Given the description of an element on the screen output the (x, y) to click on. 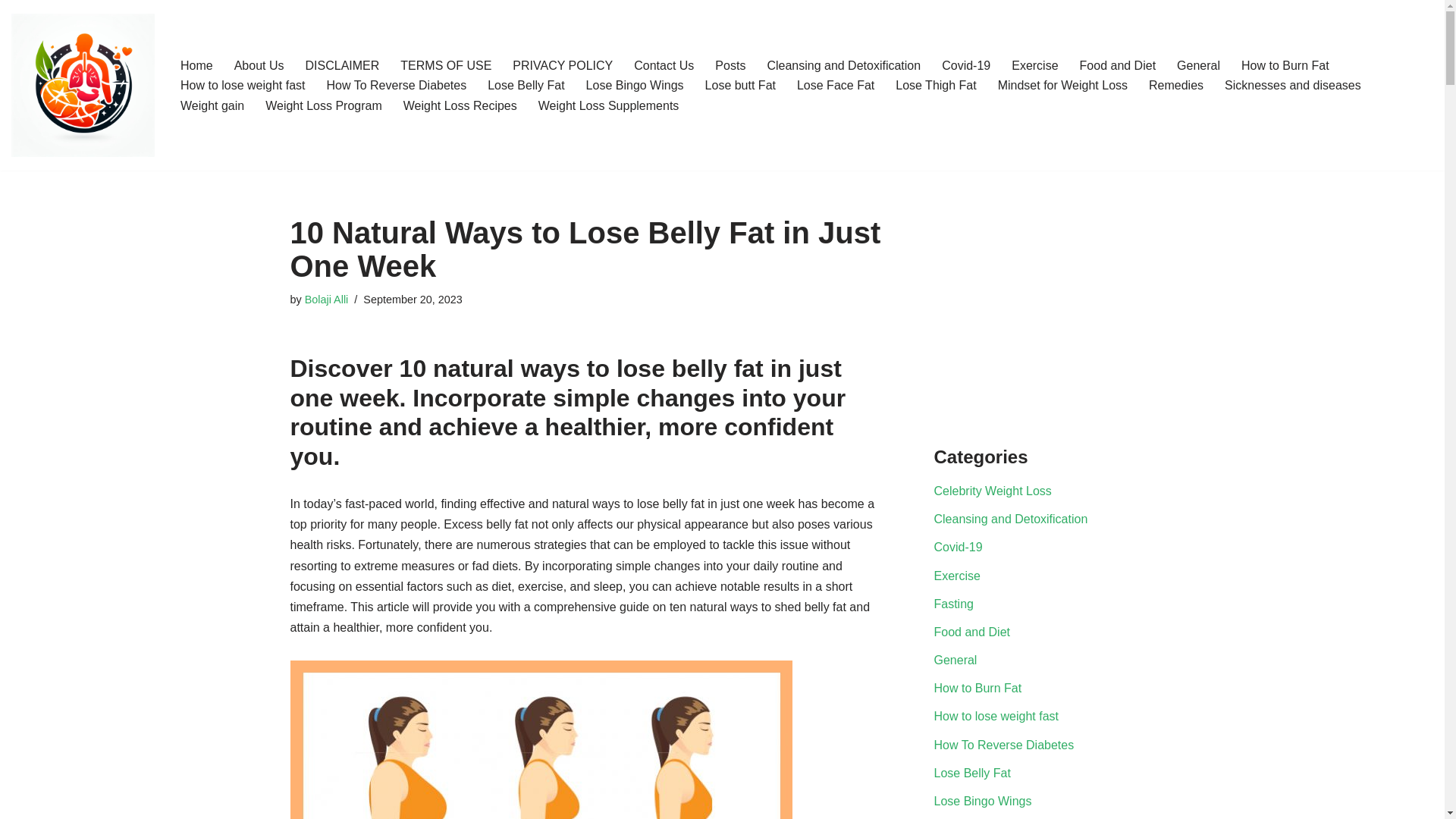
About Us (258, 65)
Weight Loss Supplements (608, 105)
Skip to content (11, 31)
Exercise (1034, 65)
Cleansing and Detoxification (843, 65)
Lose butt Fat (740, 85)
Remedies (1176, 85)
Contact Us (663, 65)
Weight Loss Program (322, 105)
10 Natural Ways to Lose Belly Fat in Just One Week (540, 739)
Lose Belly Fat (525, 85)
How to Burn Fat (1285, 65)
General (1198, 65)
How To Reverse Diabetes (396, 85)
PRIVACY POLICY (562, 65)
